Given the description of an element on the screen output the (x, y) to click on. 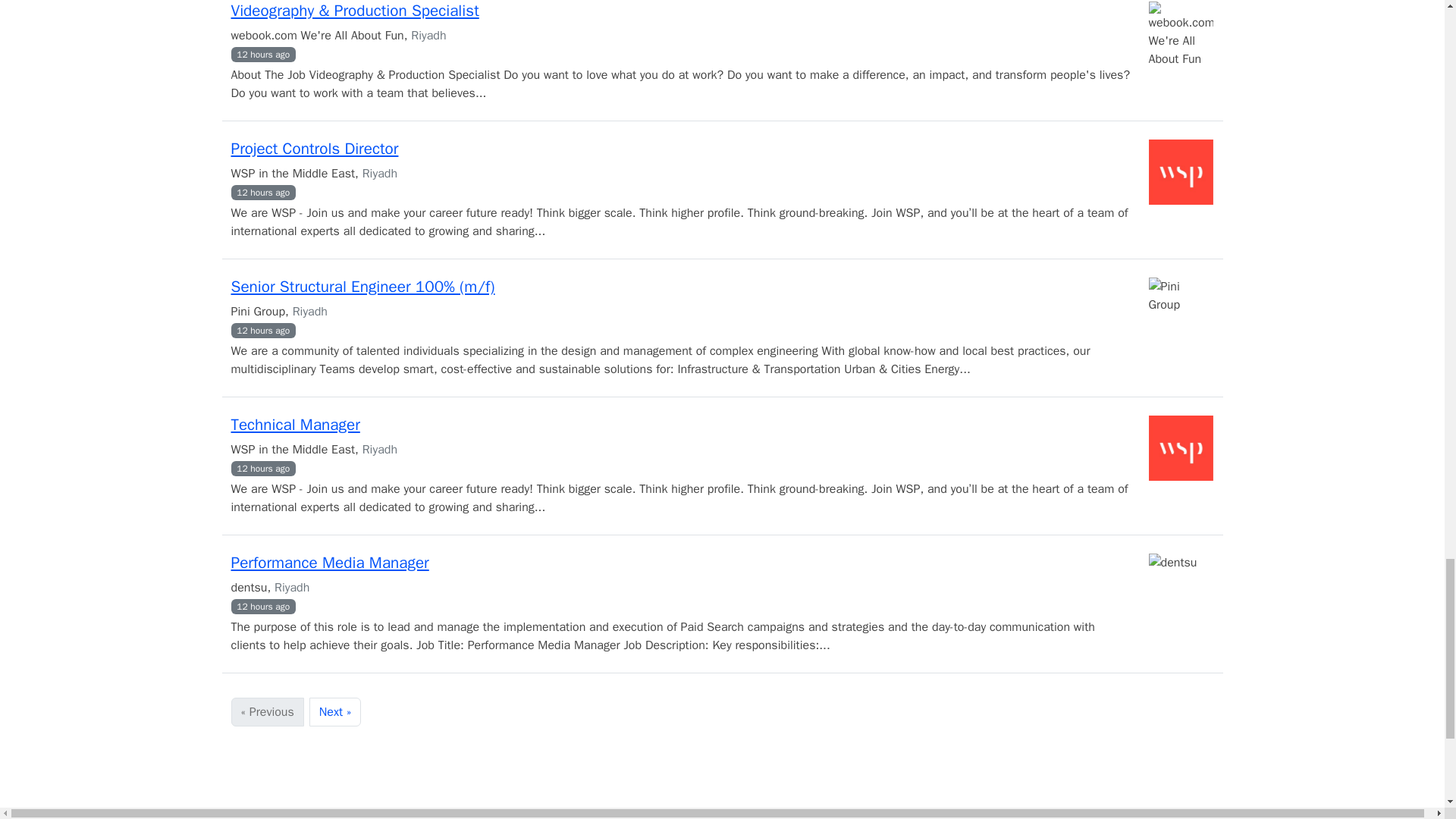
Project Controls Director (313, 148)
Performance Media Manager (329, 562)
Technical Manager (294, 424)
